Given the description of an element on the screen output the (x, y) to click on. 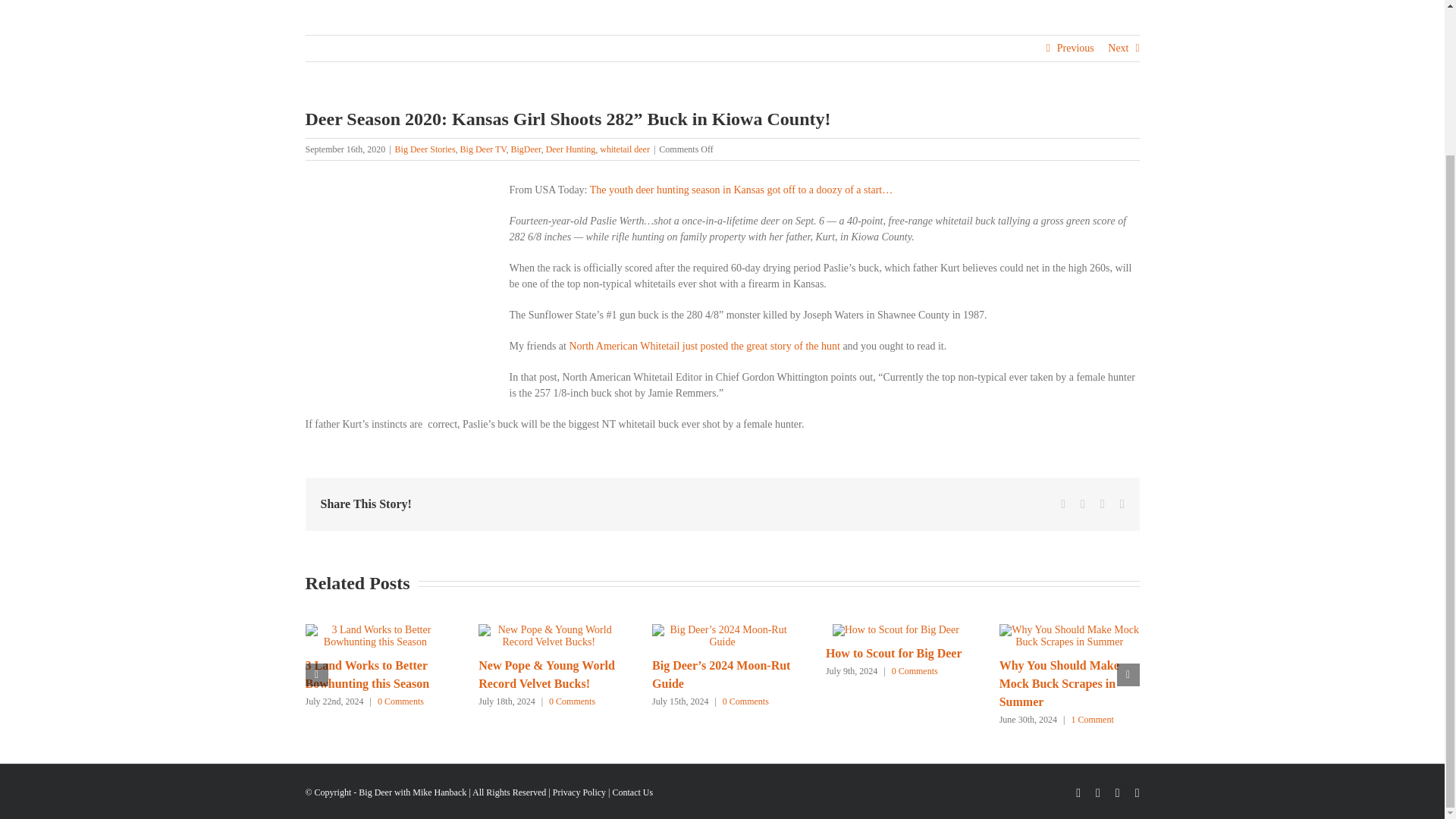
Big Deer TV (483, 149)
Previous (1075, 48)
3 Land Works to Better Bowhunting this Season (366, 674)
Big Deer Stories (424, 149)
Deer Hunting (570, 149)
whitetail deer (624, 149)
BigDeer (525, 149)
